Given the description of an element on the screen output the (x, y) to click on. 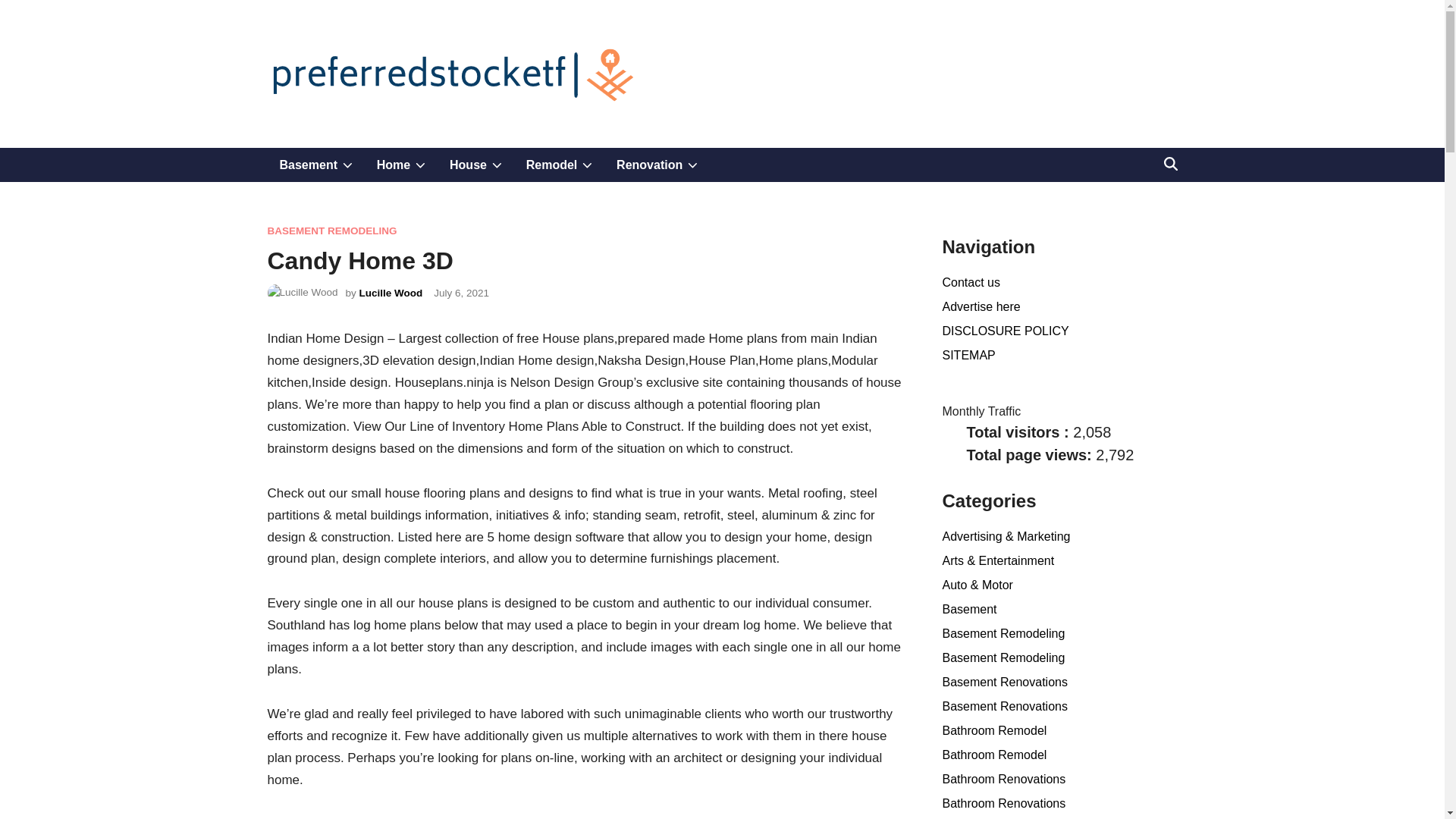
Contact us (657, 164)
Lucille Wood (401, 164)
BASEMENT REMODELING (970, 282)
July 6, 2021 (391, 292)
